Given the description of an element on the screen output the (x, y) to click on. 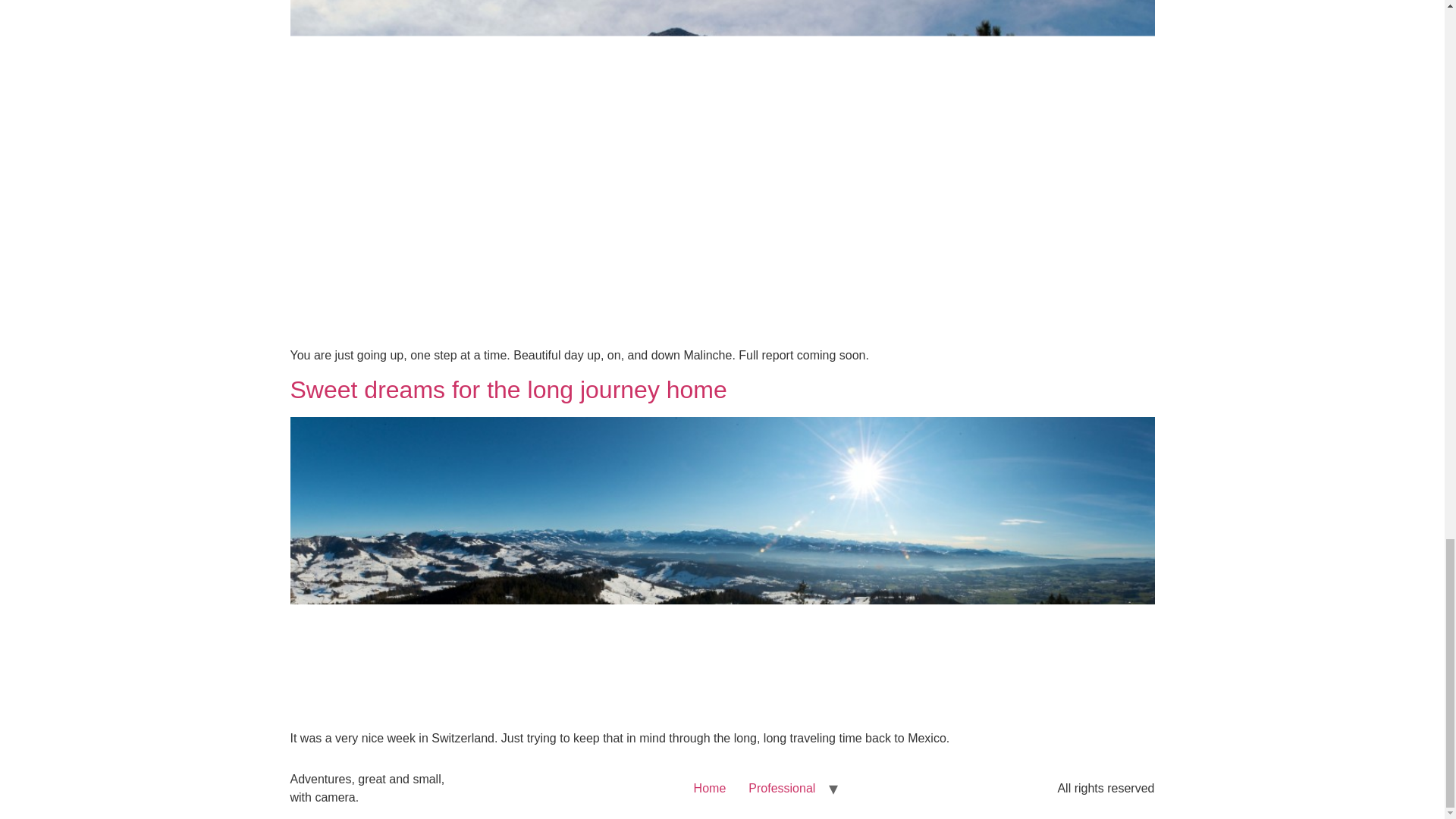
Home (710, 788)
Professional (781, 788)
Sweet dreams for the long journey home (507, 389)
